Given the description of an element on the screen output the (x, y) to click on. 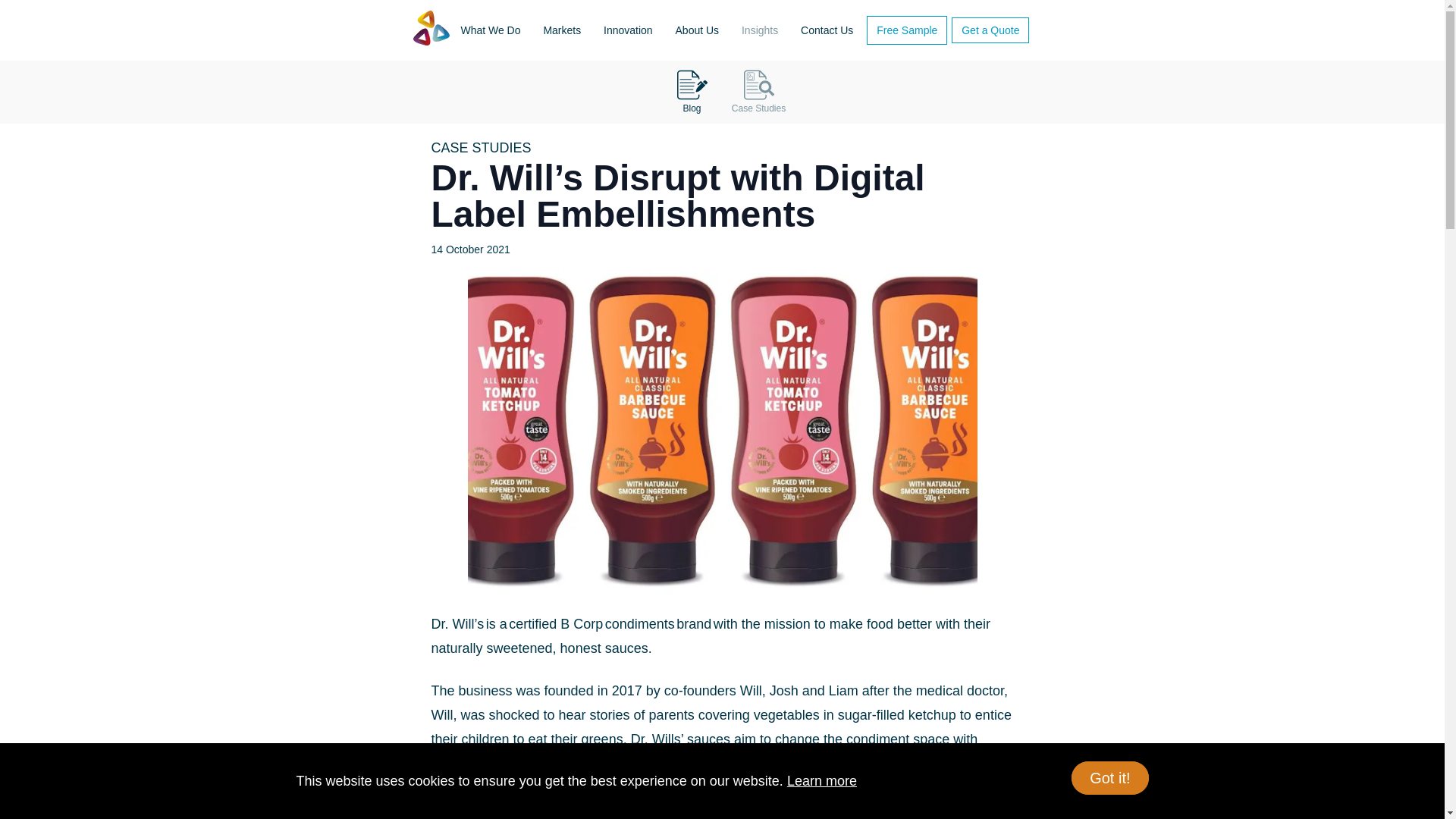
What We Do (490, 29)
Blog (691, 91)
Got it! (1109, 777)
About Us (697, 29)
Case Studies (758, 91)
Blog (688, 91)
Learn more (822, 780)
Case Studies (755, 91)
Free Sample (906, 30)
Get a Quote (990, 30)
